Given the description of an element on the screen output the (x, y) to click on. 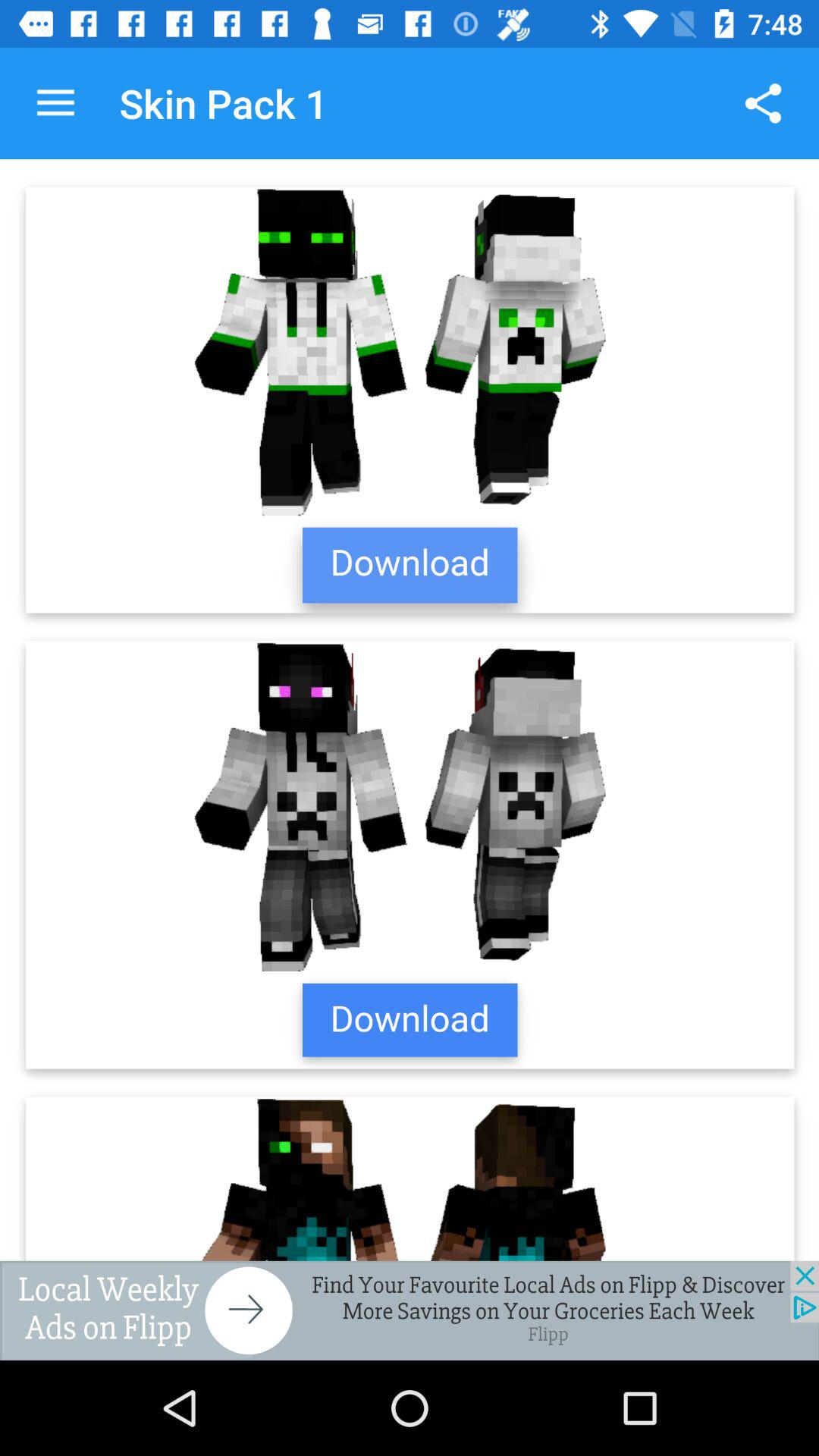
download skin pack (409, 709)
